Given the description of an element on the screen output the (x, y) to click on. 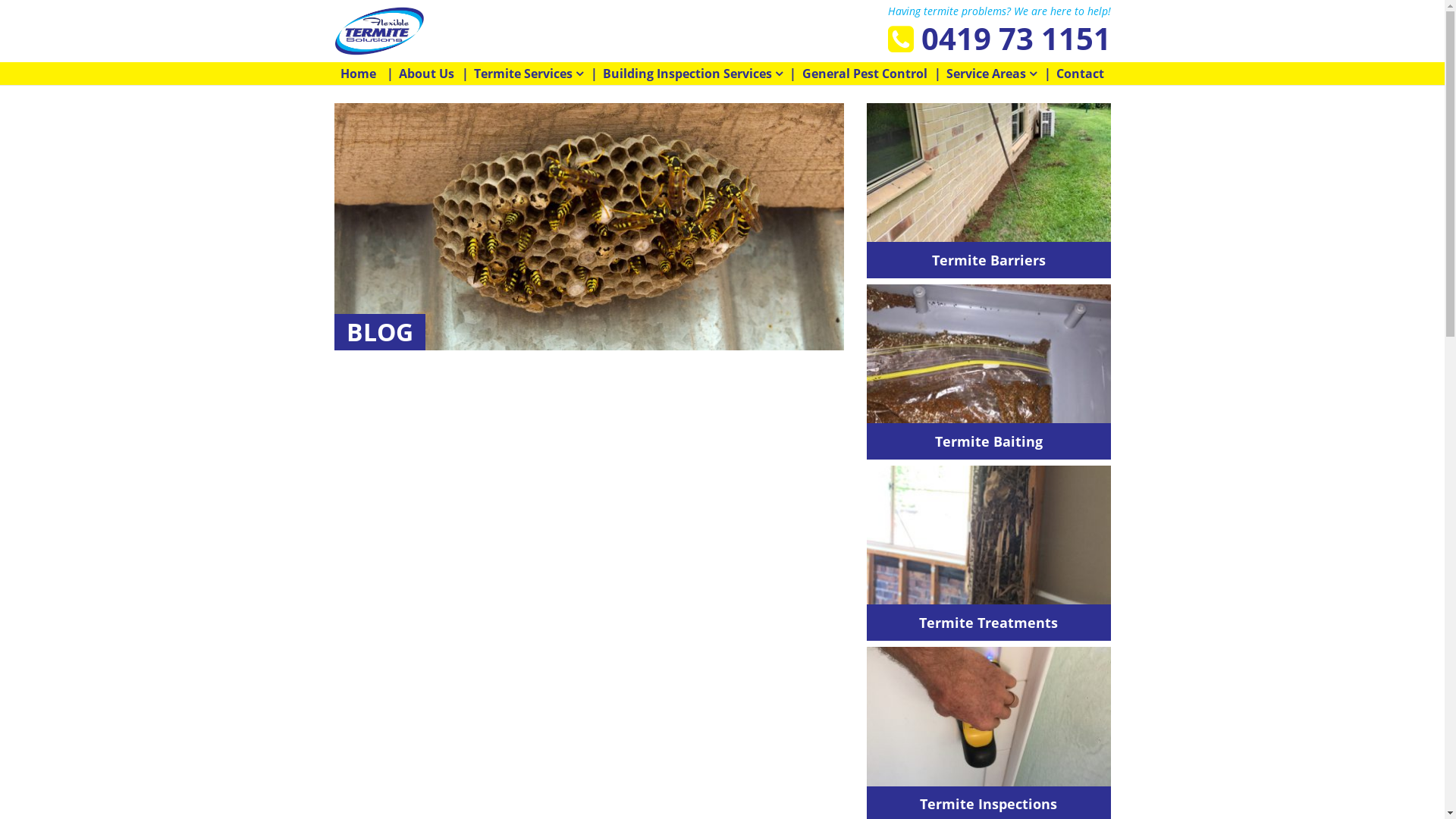
Skip to content Element type: text (0, 84)
Termite Treatments Element type: text (988, 621)
Termite Barriers Element type: text (988, 259)
Termite Inspections Element type: text (988, 802)
0419 73 1151 Element type: text (998, 38)
Building Inspection Services Element type: text (692, 73)
Service Areas Element type: text (991, 73)
About Us Element type: text (426, 73)
Termite Services Element type: text (528, 73)
General Pest Control Element type: text (864, 73)
Home Element type: text (358, 73)
Contact Element type: text (1080, 73)
Termite Baiting Element type: text (988, 440)
